Given the description of an element on the screen output the (x, y) to click on. 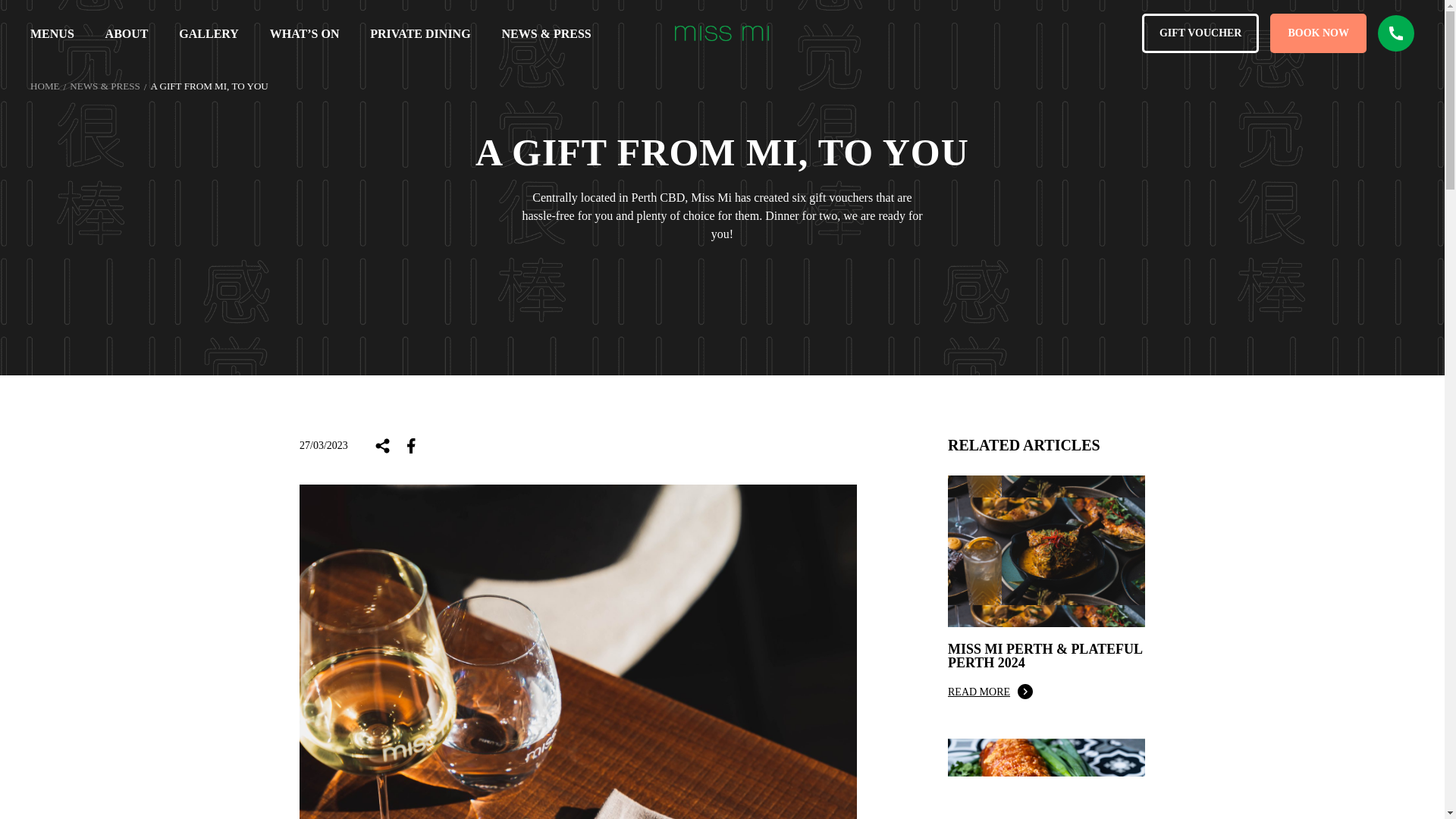
0400 442 068 (1395, 33)
A GIFT FROM MI, TO YOU (208, 85)
GIFT VOUCHER (1200, 33)
PRIVATE DINING (419, 33)
HOME (49, 86)
MENUS (52, 33)
GALLERY (208, 33)
ABOUT (126, 33)
BOOK NOW (1318, 33)
